Given the description of an element on the screen output the (x, y) to click on. 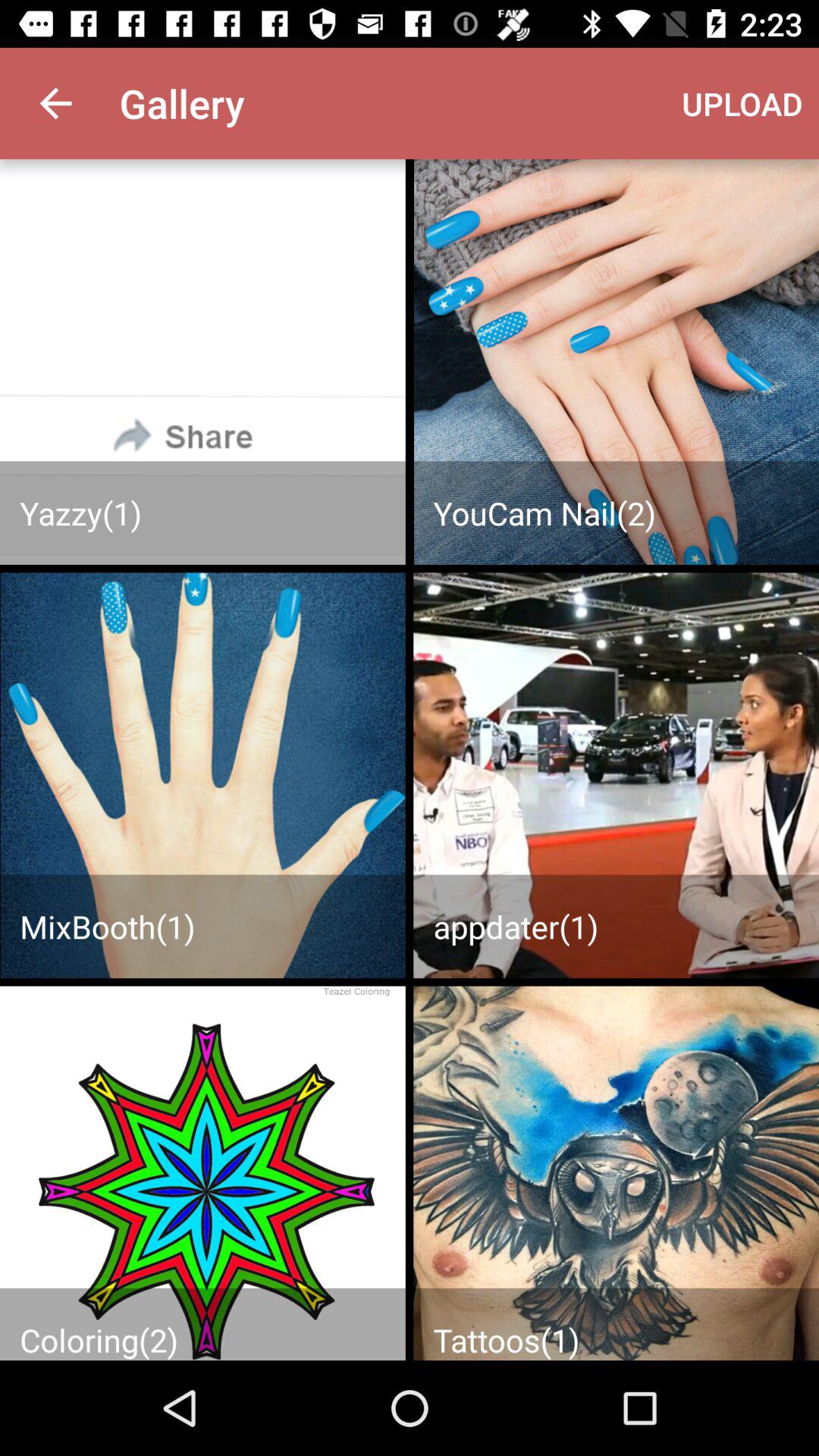
go to previous (202, 1173)
